Given the description of an element on the screen output the (x, y) to click on. 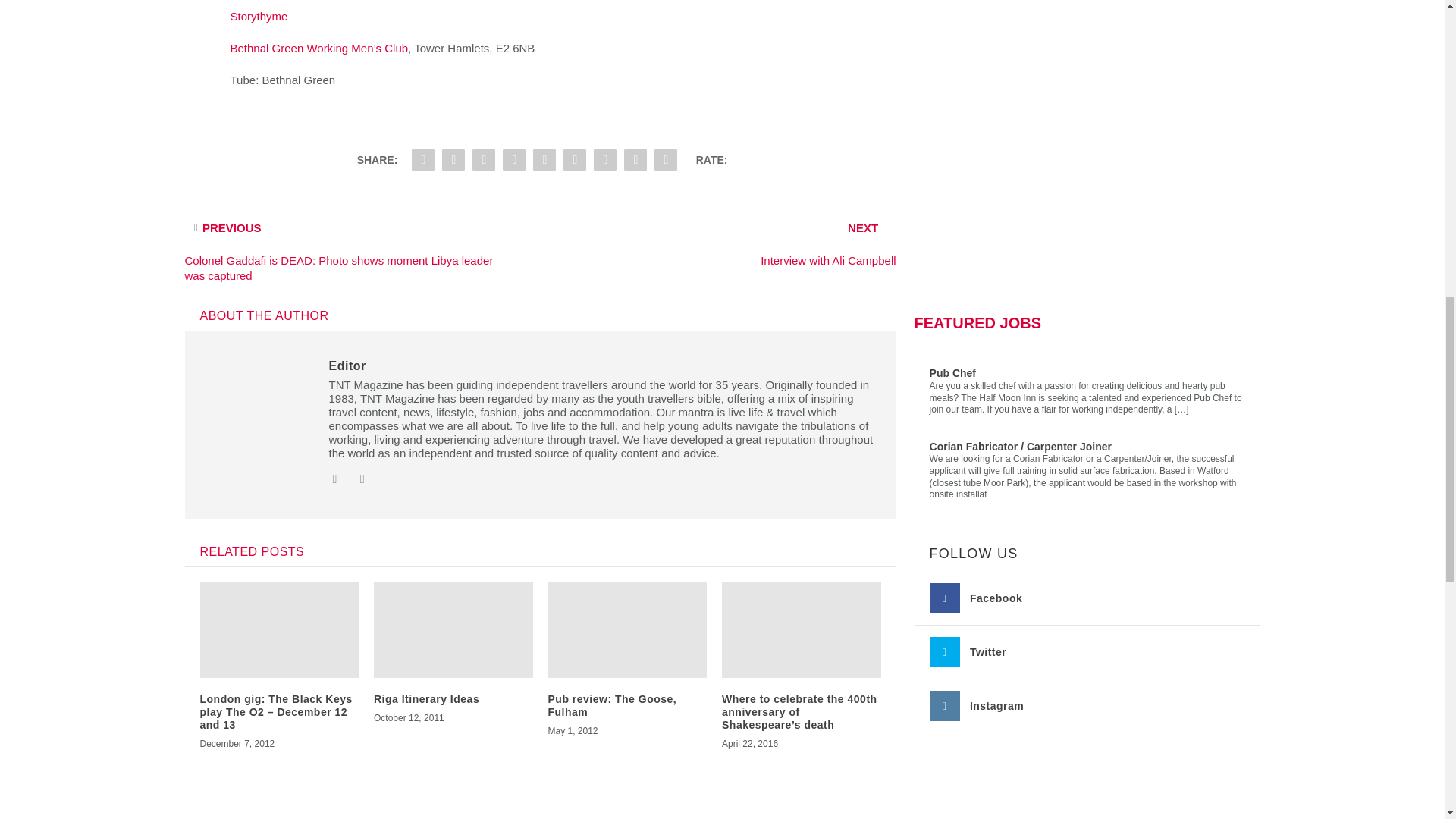
Storythyme (259, 15)
Editor (347, 365)
Riga Itinerary Ideas (426, 698)
